Given the description of an element on the screen output the (x, y) to click on. 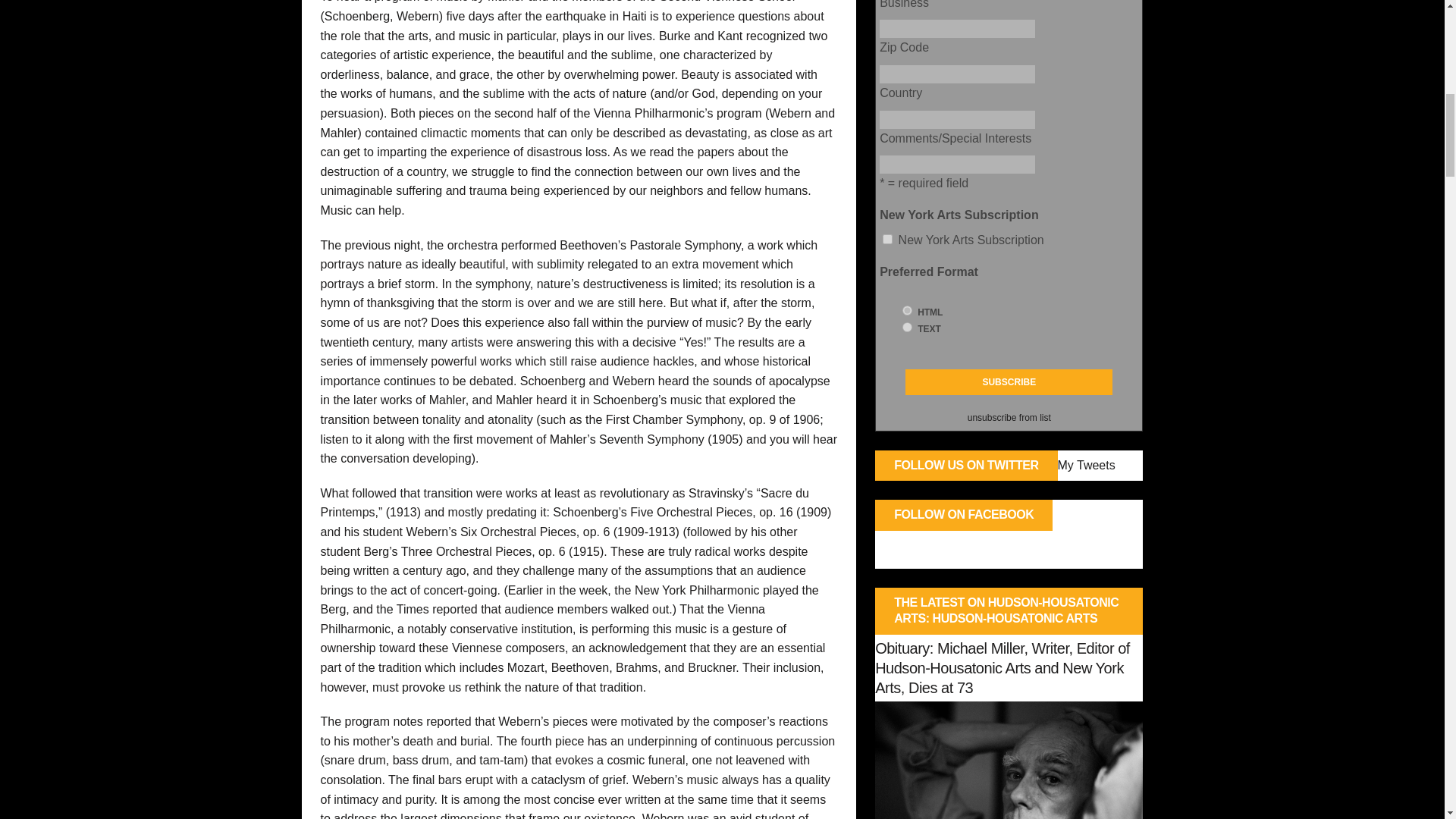
Subscribe (1008, 381)
text (907, 327)
New York Arts Subscription (887, 239)
html (907, 310)
